Given the description of an element on the screen output the (x, y) to click on. 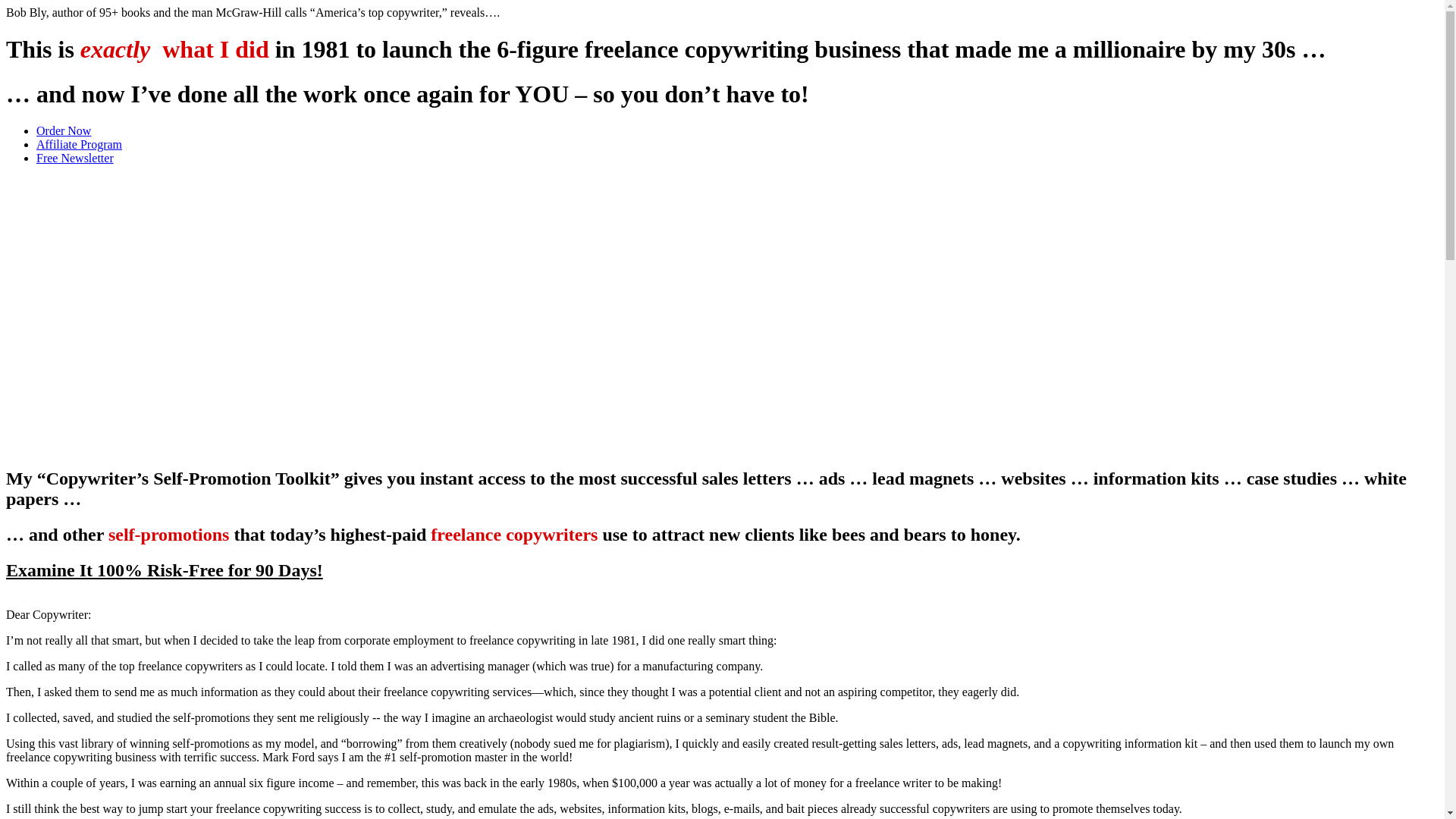
Affiliate Program (79, 144)
Free Newsletter (74, 157)
Order Now (63, 130)
